Given the description of an element on the screen output the (x, y) to click on. 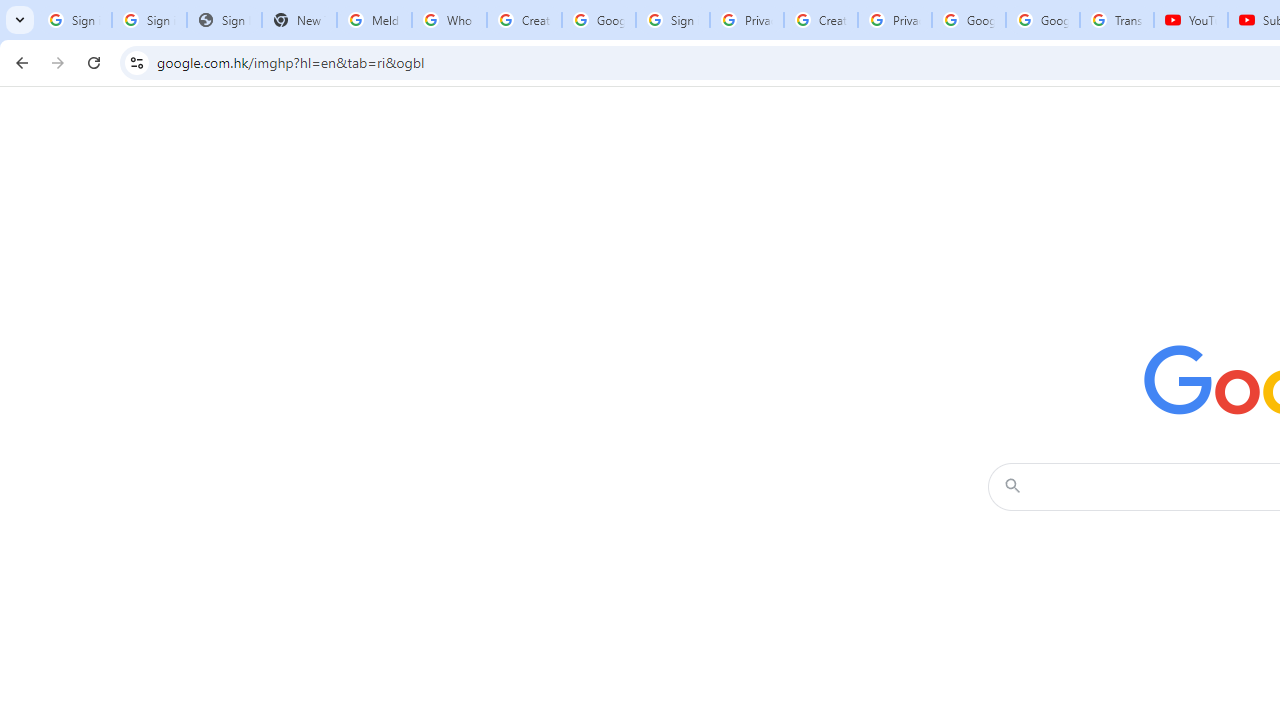
Sign in - Google Accounts (74, 20)
Sign in - Google Accounts (148, 20)
